Given the description of an element on the screen output the (x, y) to click on. 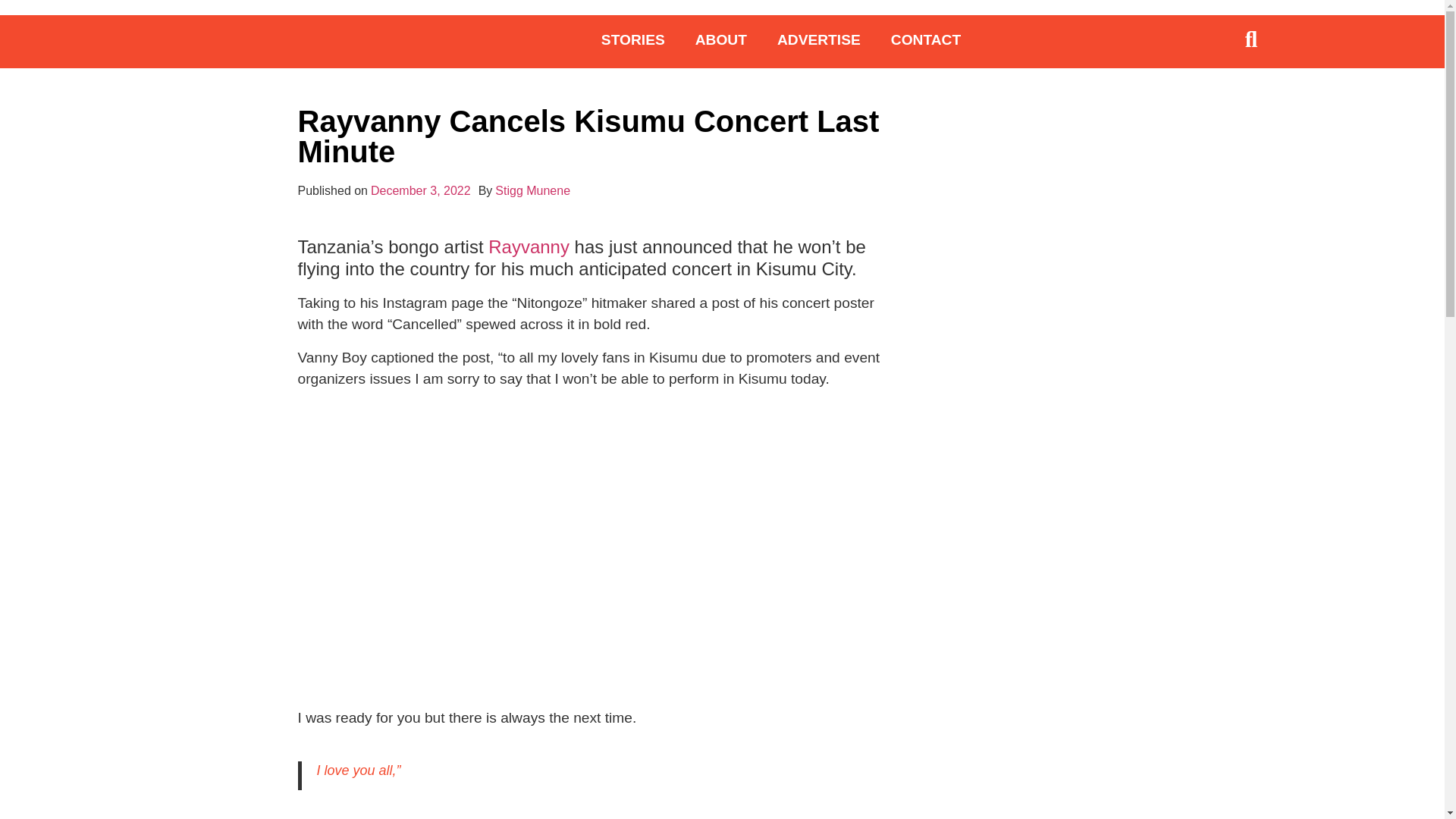
CONTACT (925, 39)
December 3, 2022 (420, 190)
STORIES (632, 39)
Rayvanny (528, 246)
ABOUT (720, 39)
Stigg Munene (532, 190)
ADVERTISE (818, 39)
